Given the description of an element on the screen output the (x, y) to click on. 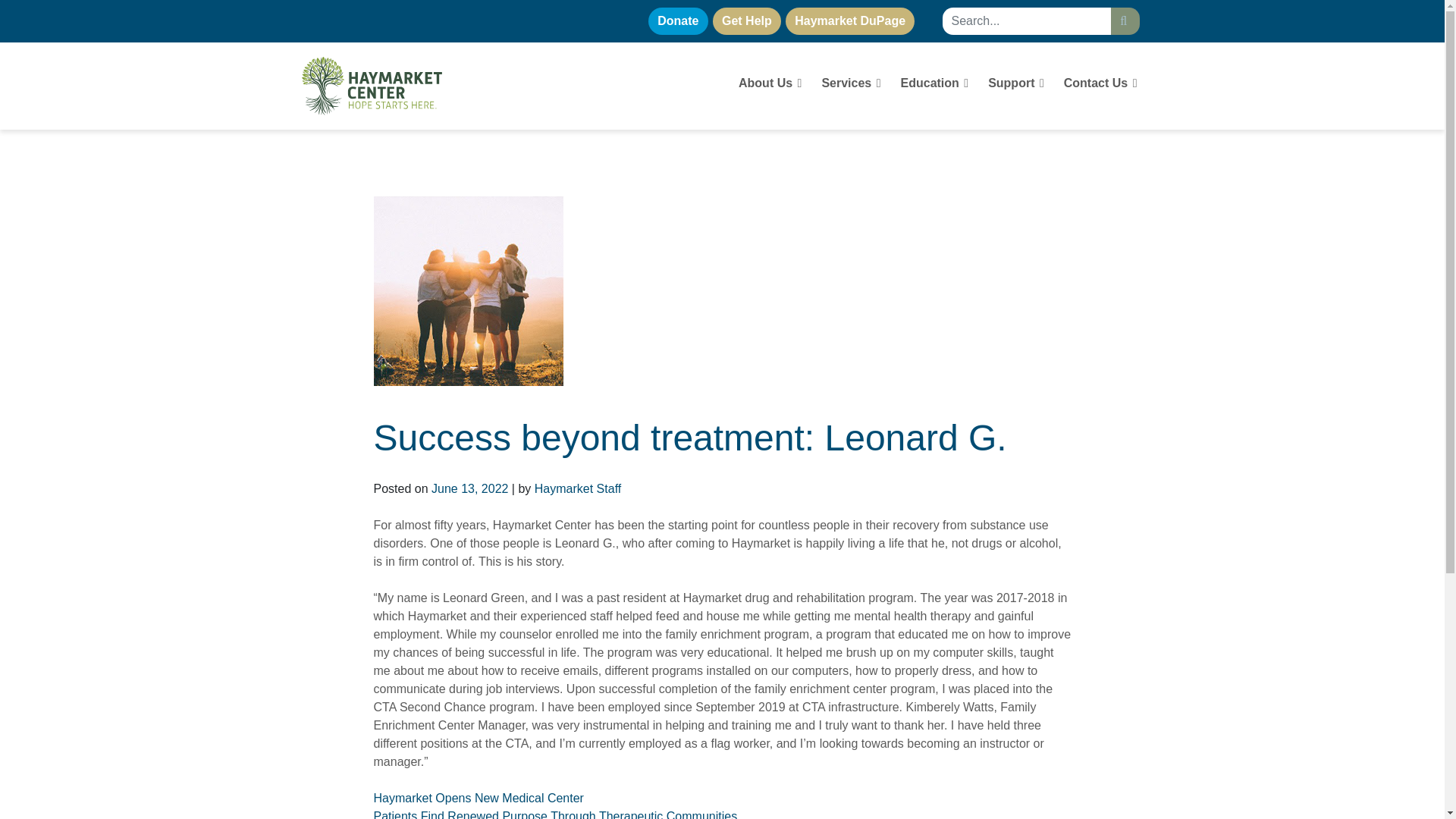
Donate (677, 21)
Education (935, 85)
Support (1015, 85)
Contact Us (1100, 85)
About Us (770, 85)
Haymarket DuPage (850, 21)
Get Help (746, 21)
Services (850, 85)
